Given the description of an element on the screen output the (x, y) to click on. 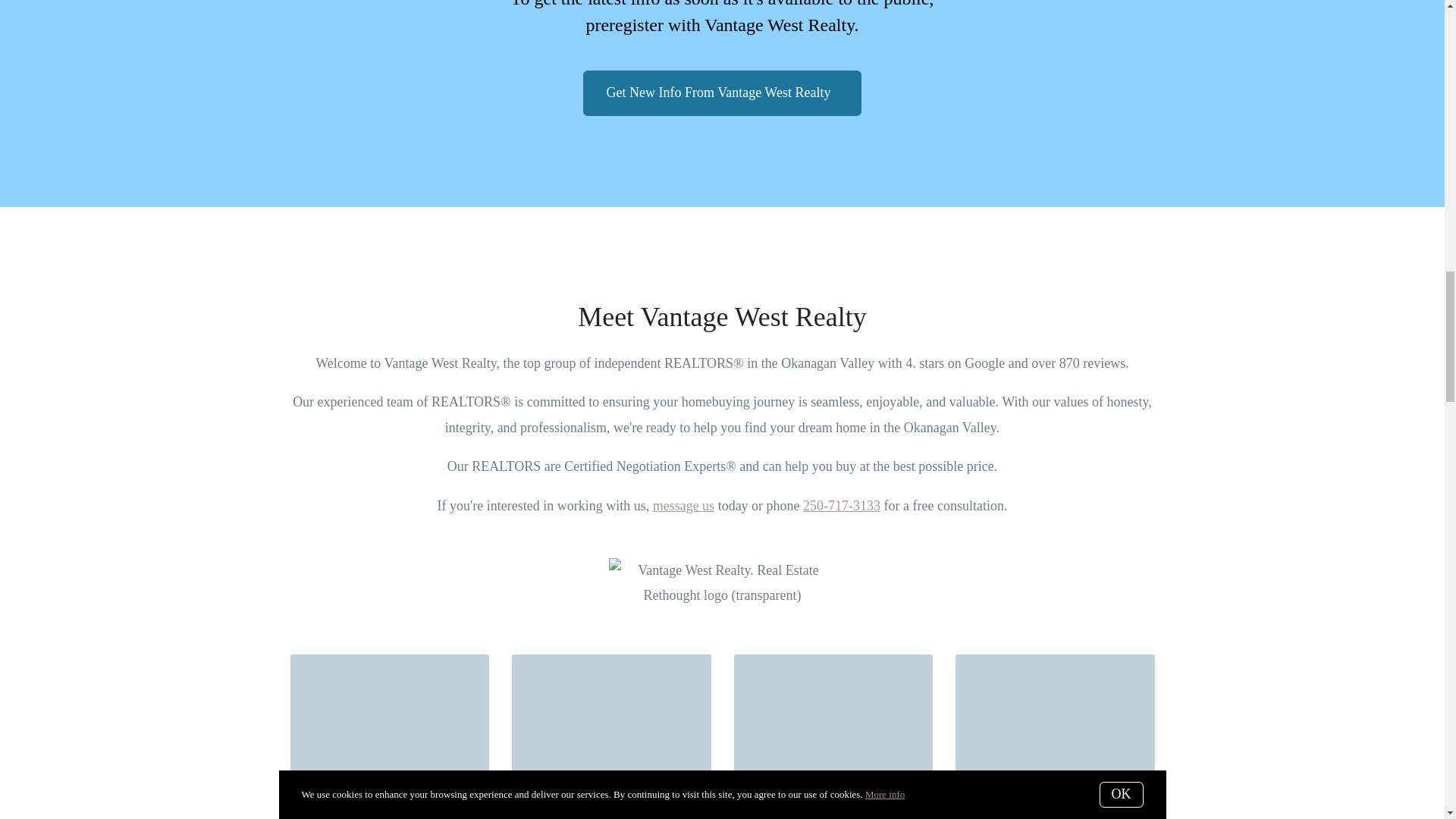
250-717-3133 (611, 736)
message us (841, 505)
Request NOLITA Information (683, 505)
Get New Info From Vantage West Realty (832, 736)
